Given the description of an element on the screen output the (x, y) to click on. 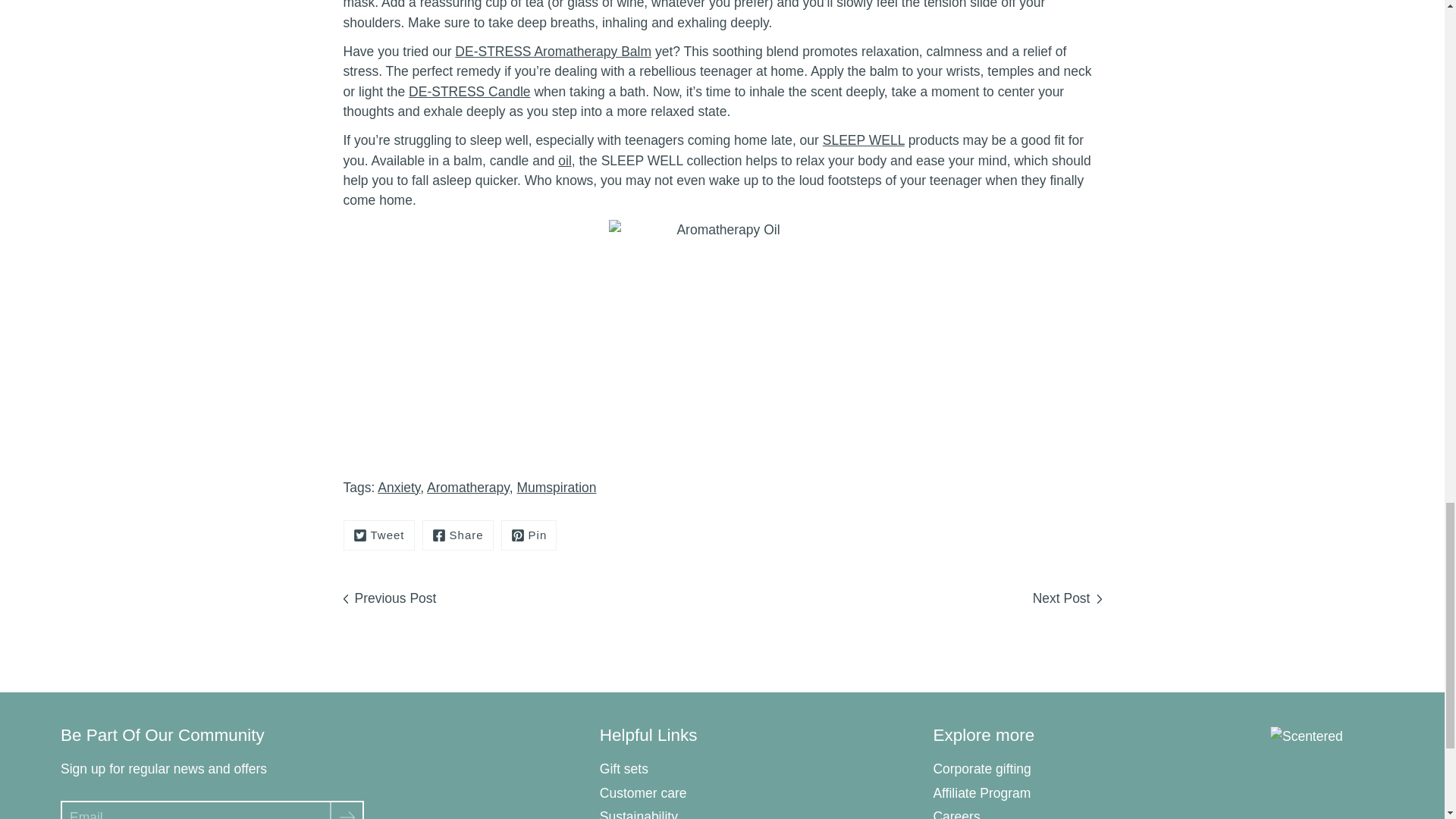
DE-STRESS Candle (469, 91)
Facebook (457, 535)
DE-STRESS Balm (552, 51)
Twitter (377, 535)
Aromatherapy oil (564, 160)
SLEEP WELL (863, 140)
Pinterest (528, 535)
